Given the description of an element on the screen output the (x, y) to click on. 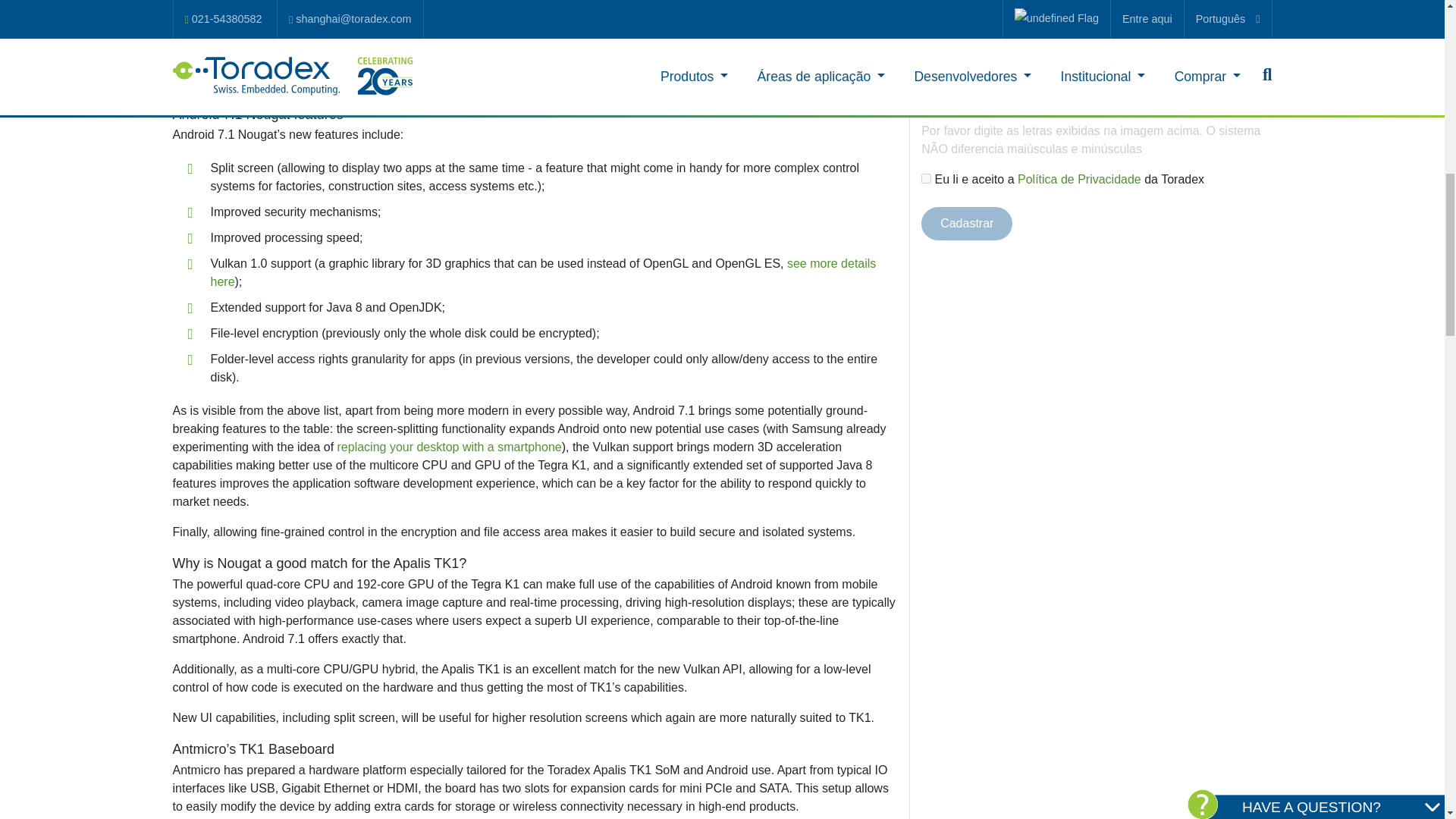
1 (926, 178)
Android 7.1 Nougat on Toradex Apalis TK1 (535, 37)
